Given the description of an element on the screen output the (x, y) to click on. 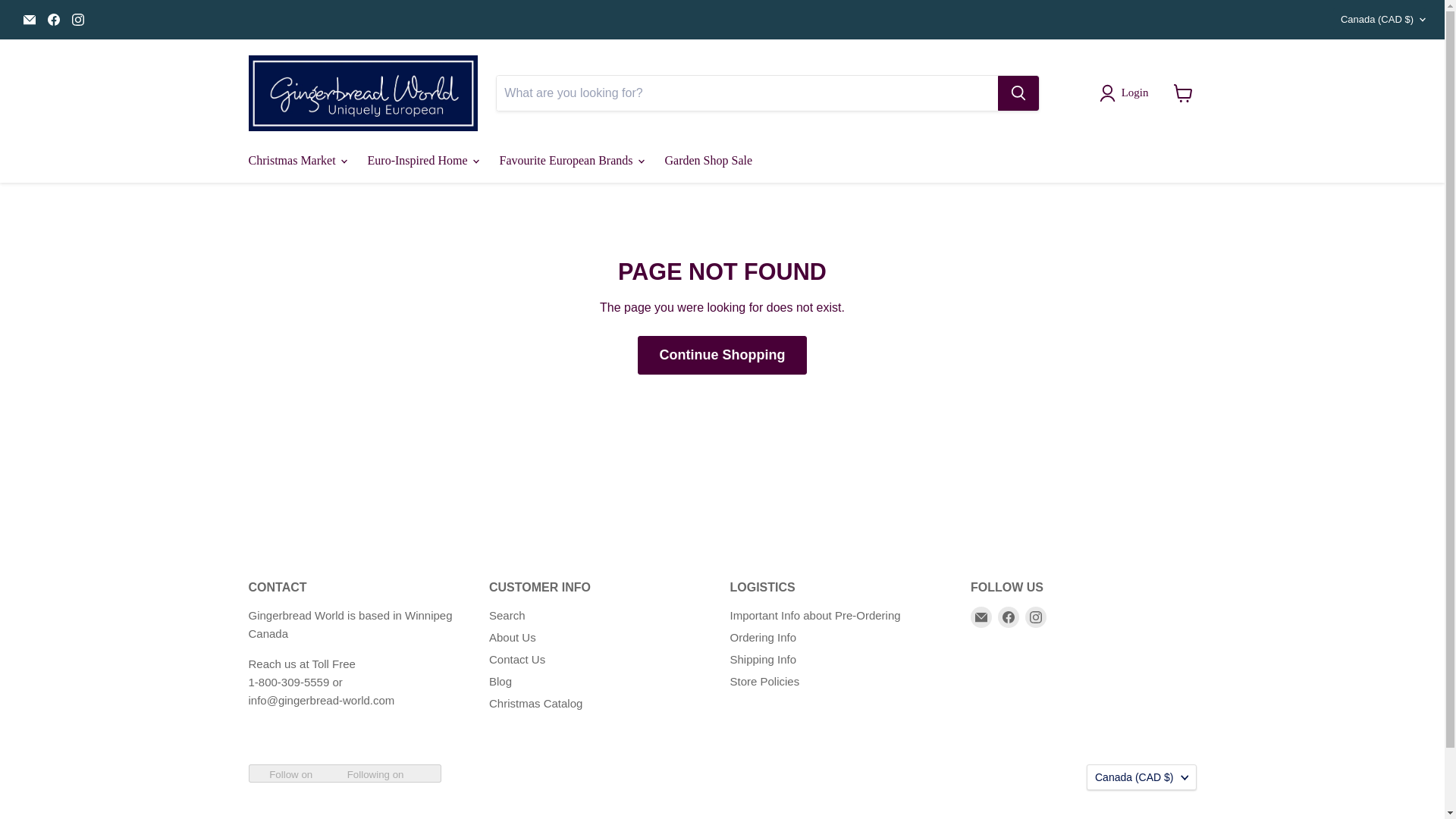
Login (1126, 93)
Find us on Instagram (77, 19)
Facebook (1008, 617)
View cart (1182, 92)
Email Gingerbread World (29, 19)
Instagram (1035, 617)
Email (29, 19)
Email (981, 617)
Facebook (53, 19)
Instagram (77, 19)
Find us on Facebook (53, 19)
